Given the description of an element on the screen output the (x, y) to click on. 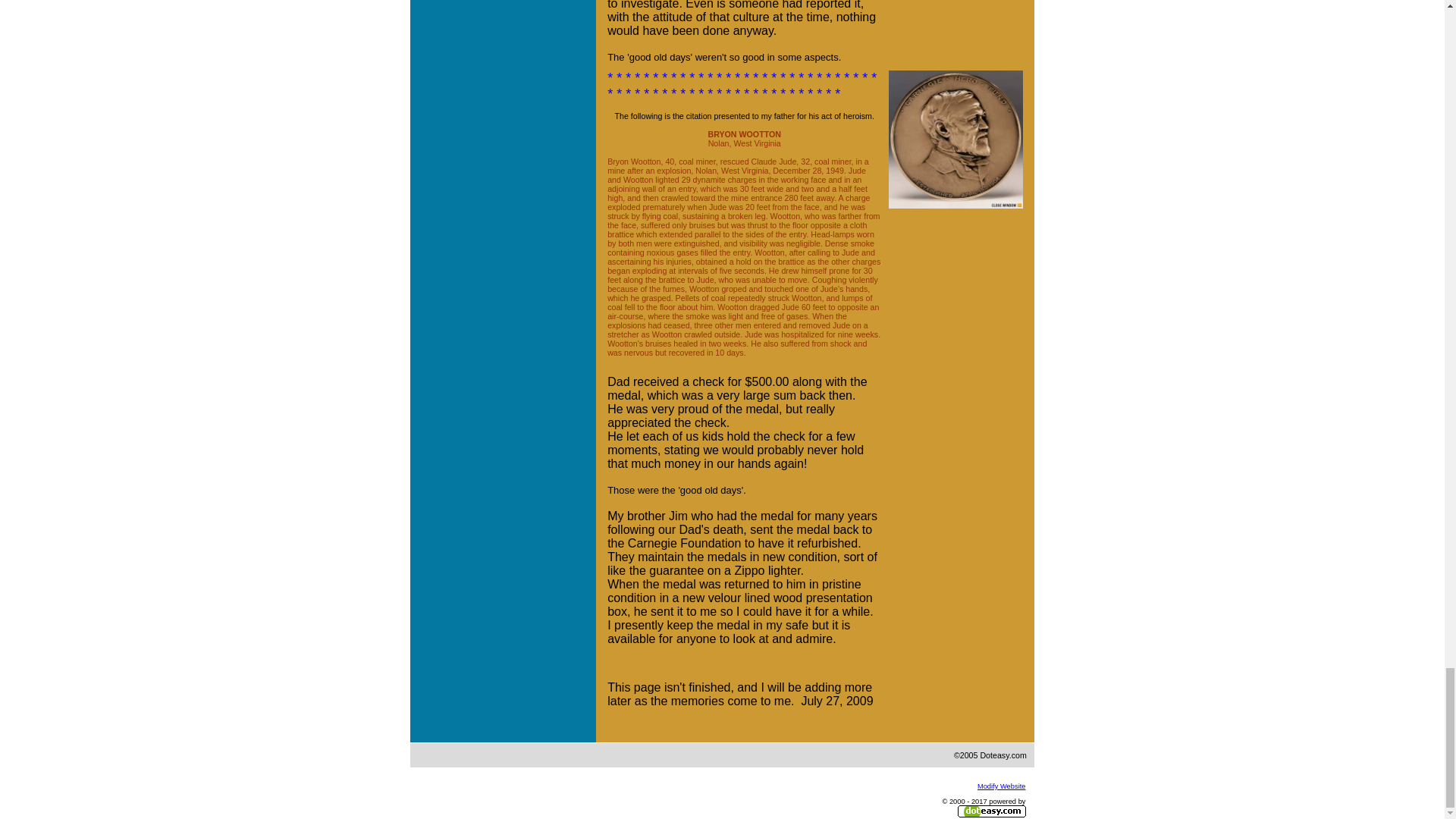
Modify Website (1001, 786)
